Given the description of an element on the screen output the (x, y) to click on. 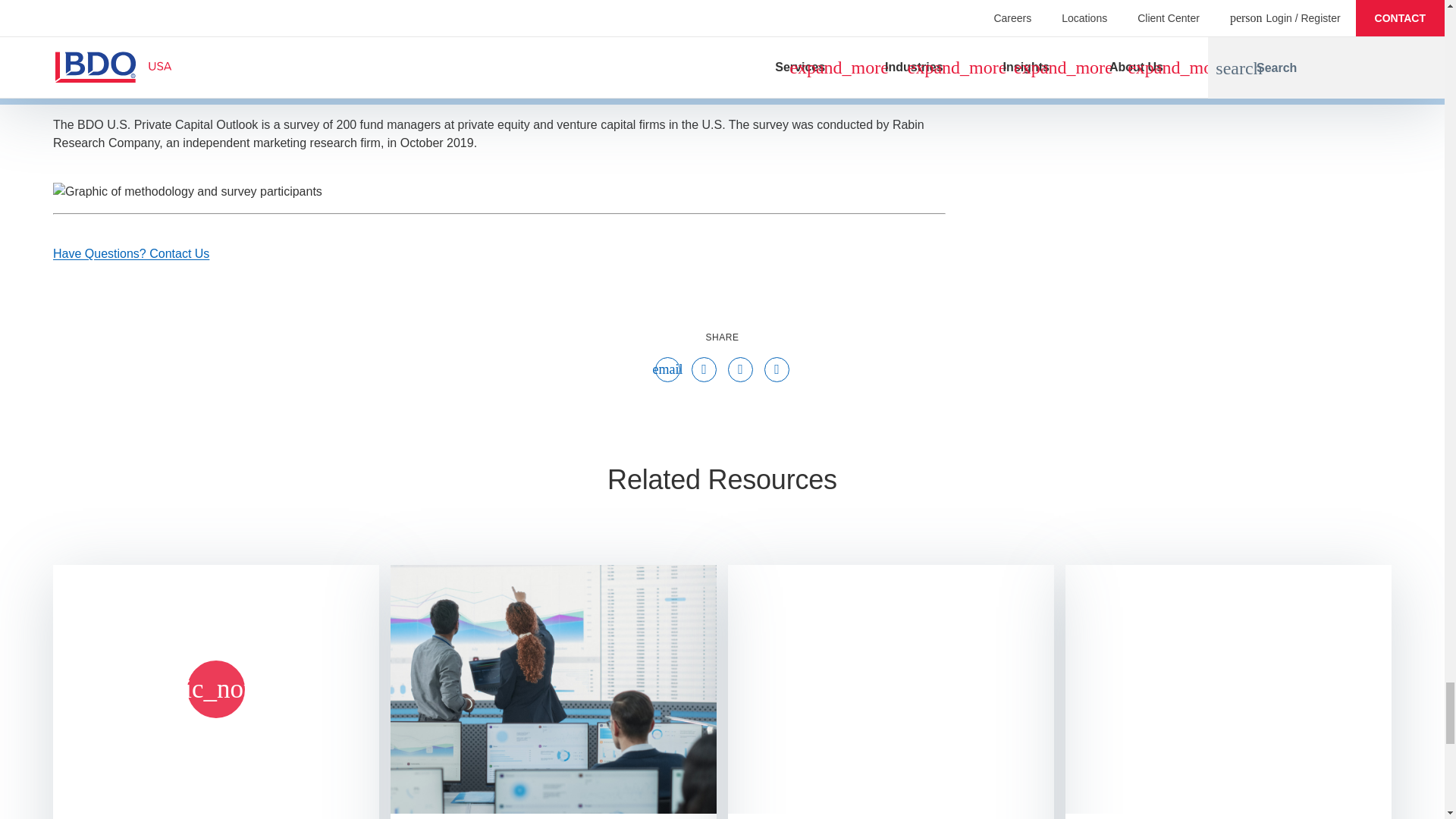
SHARE (722, 337)
